Given the description of an element on the screen output the (x, y) to click on. 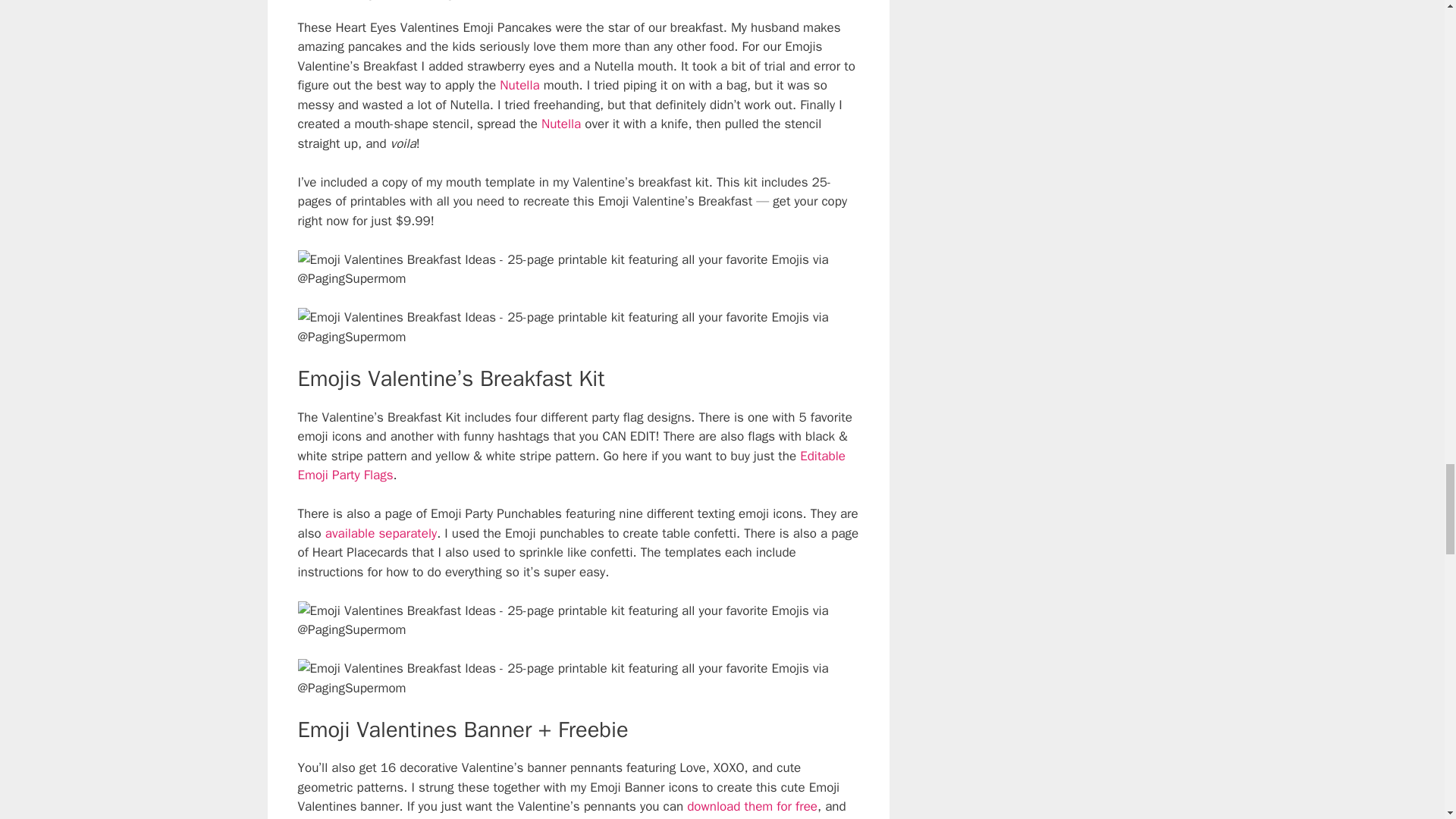
Emoji Valentine Banner H (578, 620)
Emoji Valentines Decor (578, 269)
Nutella (560, 123)
Emoji Valentine Banner 3 (578, 678)
Emoji Valentines Breakfast 7 (578, 326)
Nutella (518, 84)
